Given the description of an element on the screen output the (x, y) to click on. 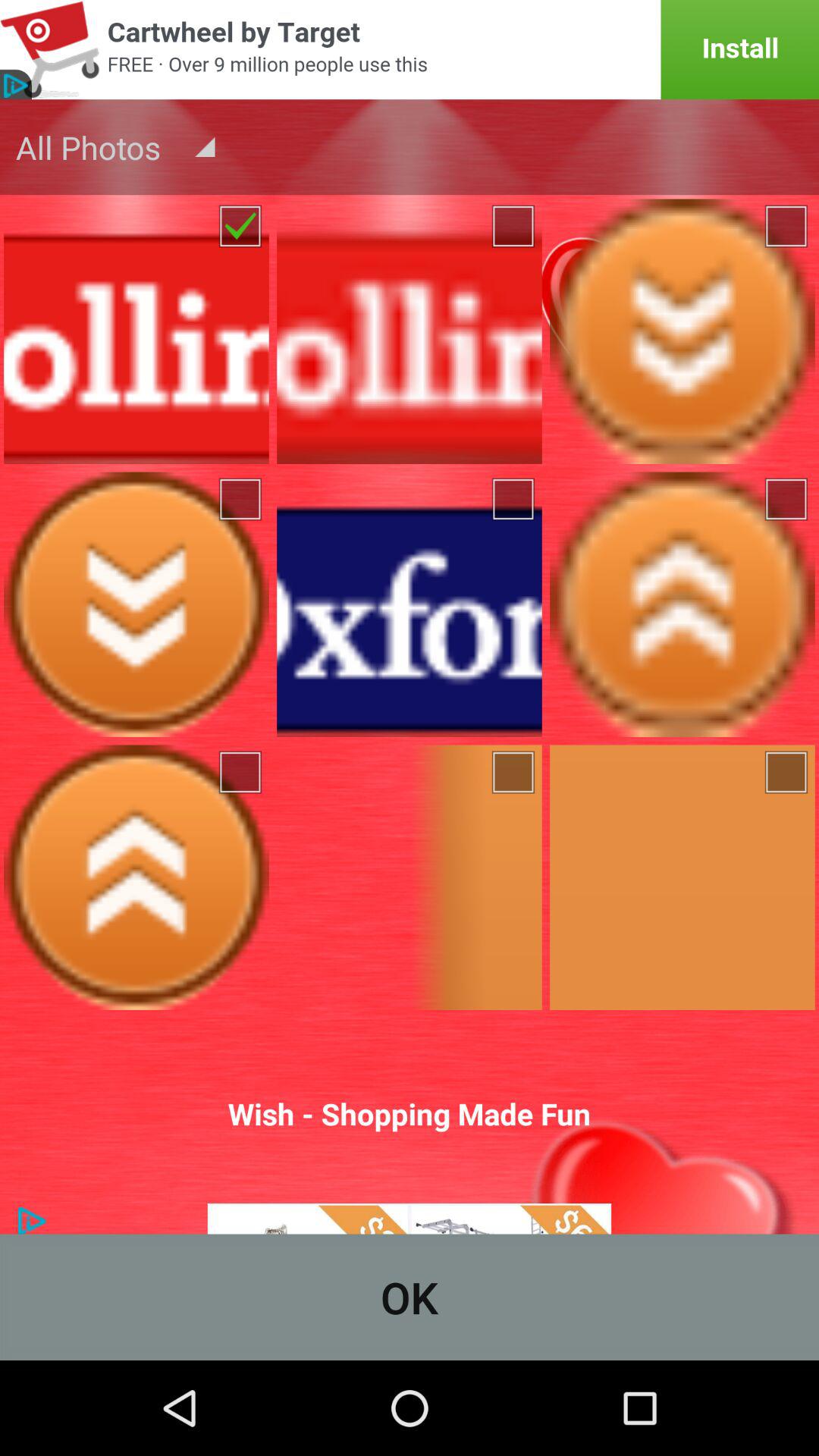
view the advertisement (409, 49)
